Given the description of an element on the screen output the (x, y) to click on. 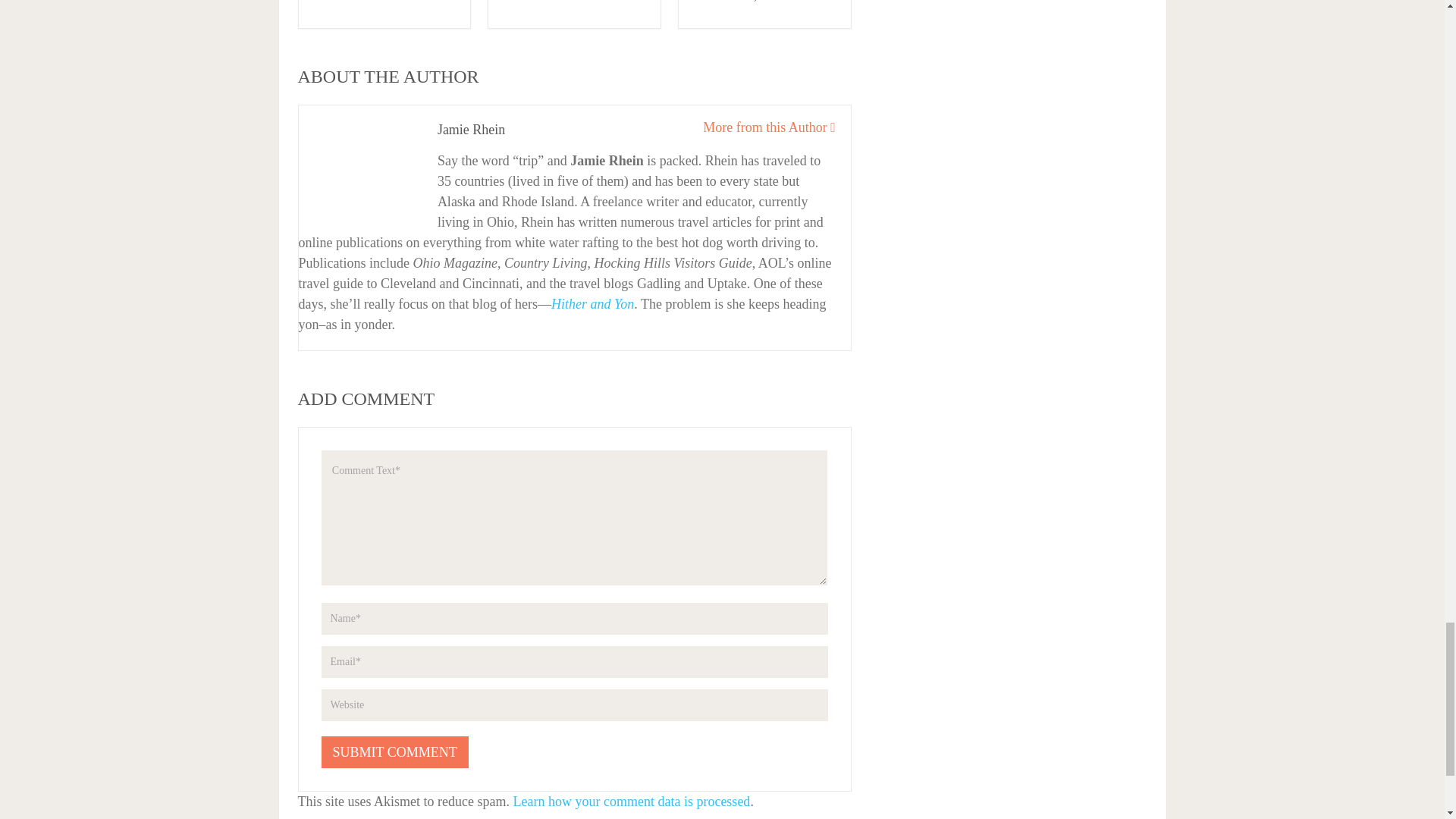
Submit Comment (394, 752)
Five Best Boutique Hotels in San Miguel De Allende (381, 1)
Five Best Boutique Hotels in San Miguel De Allende (381, 1)
